Given the description of an element on the screen output the (x, y) to click on. 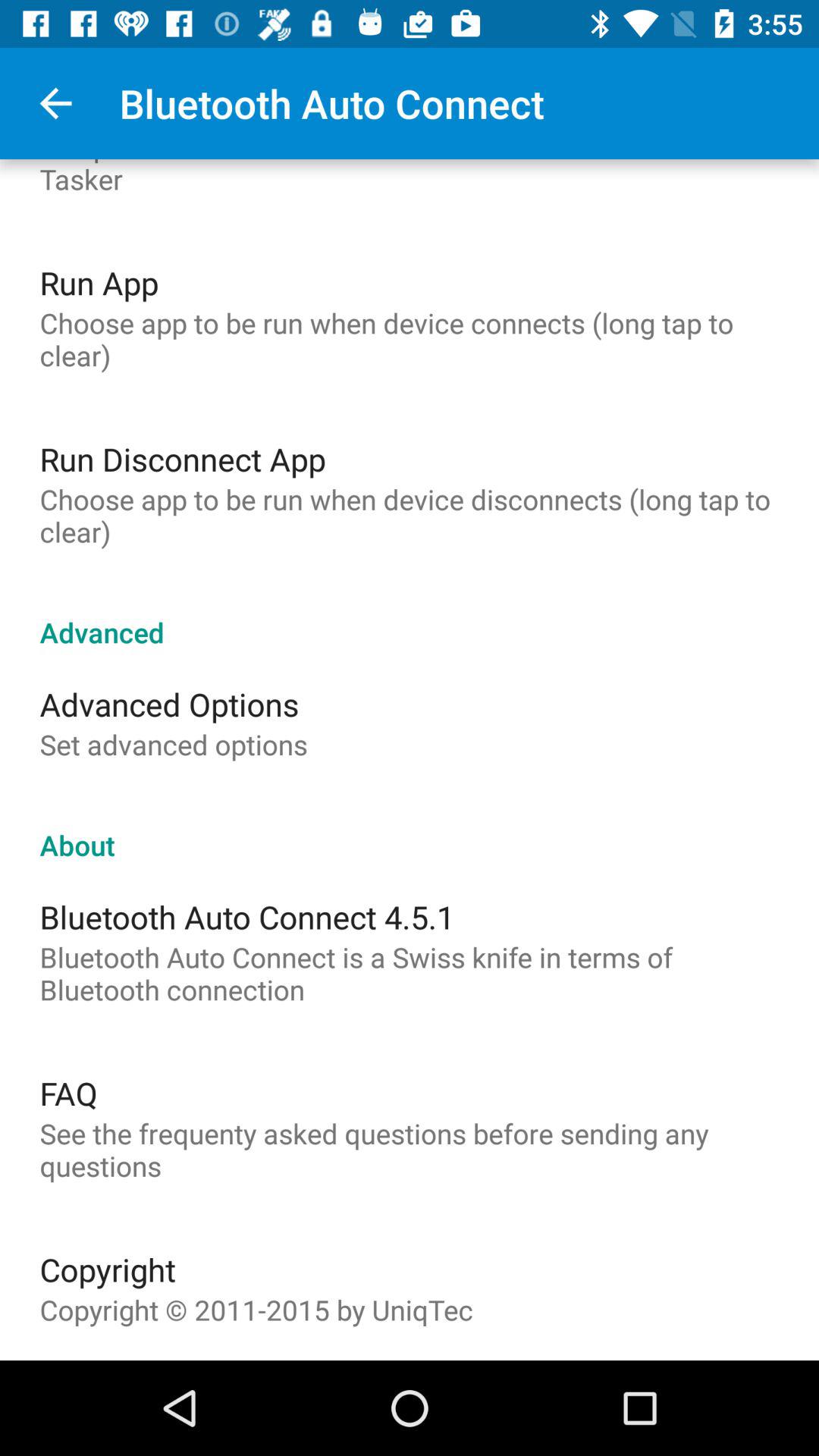
choose the see the frequenty item (409, 1149)
